Given the description of an element on the screen output the (x, y) to click on. 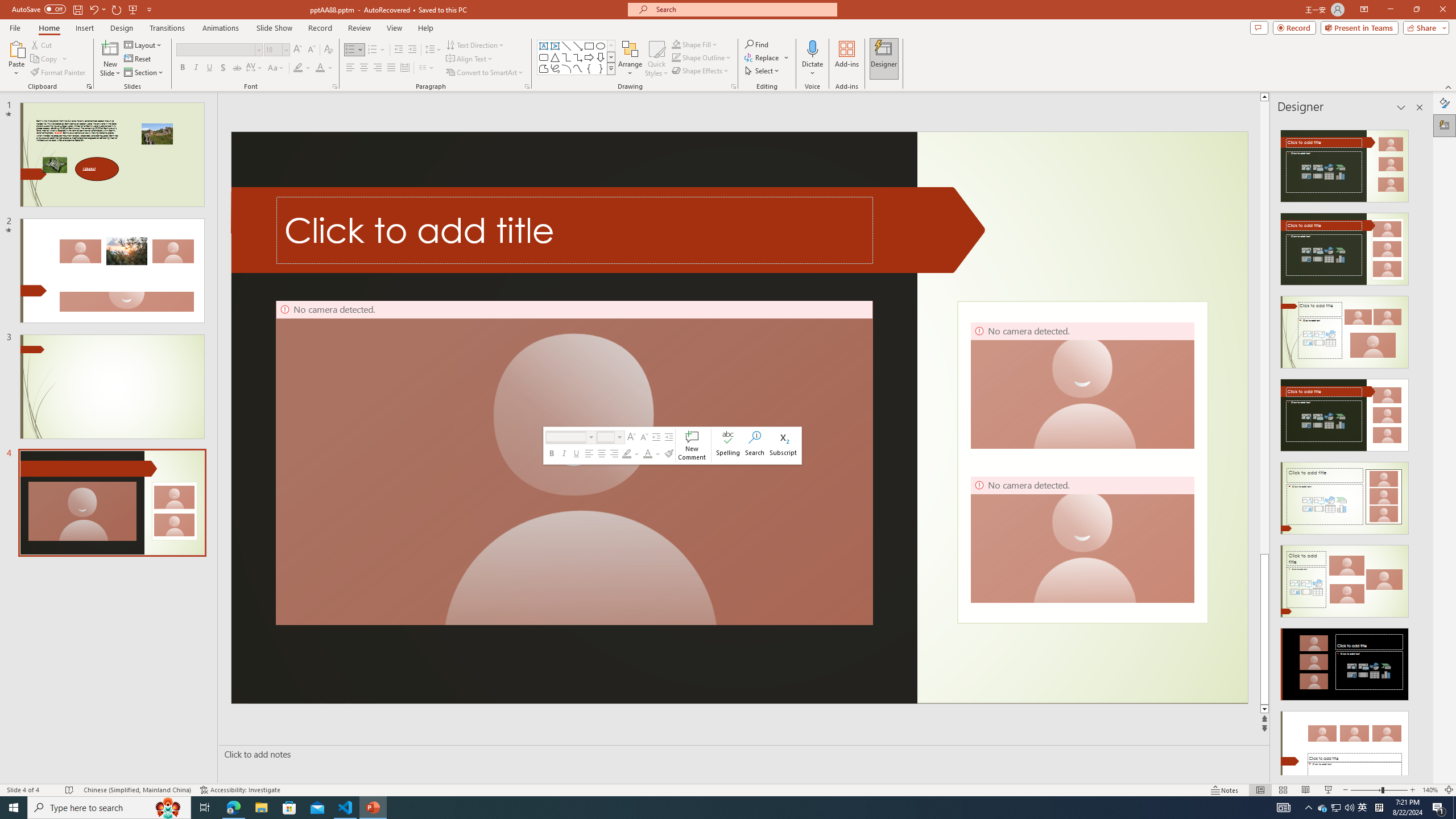
System (6, 6)
Class: NetUIComboboxAnchor (610, 436)
Decrease Indent (398, 49)
Ribbon Display Options (1364, 9)
Microsoft search (742, 9)
Freeform: Shape (543, 68)
Connector: Elbow (566, 57)
Record (320, 28)
Close (1442, 9)
Zoom In (1412, 790)
Shapes (611, 68)
Redo (117, 9)
Font (219, 49)
Row Down (611, 56)
